Given the description of an element on the screen output the (x, y) to click on. 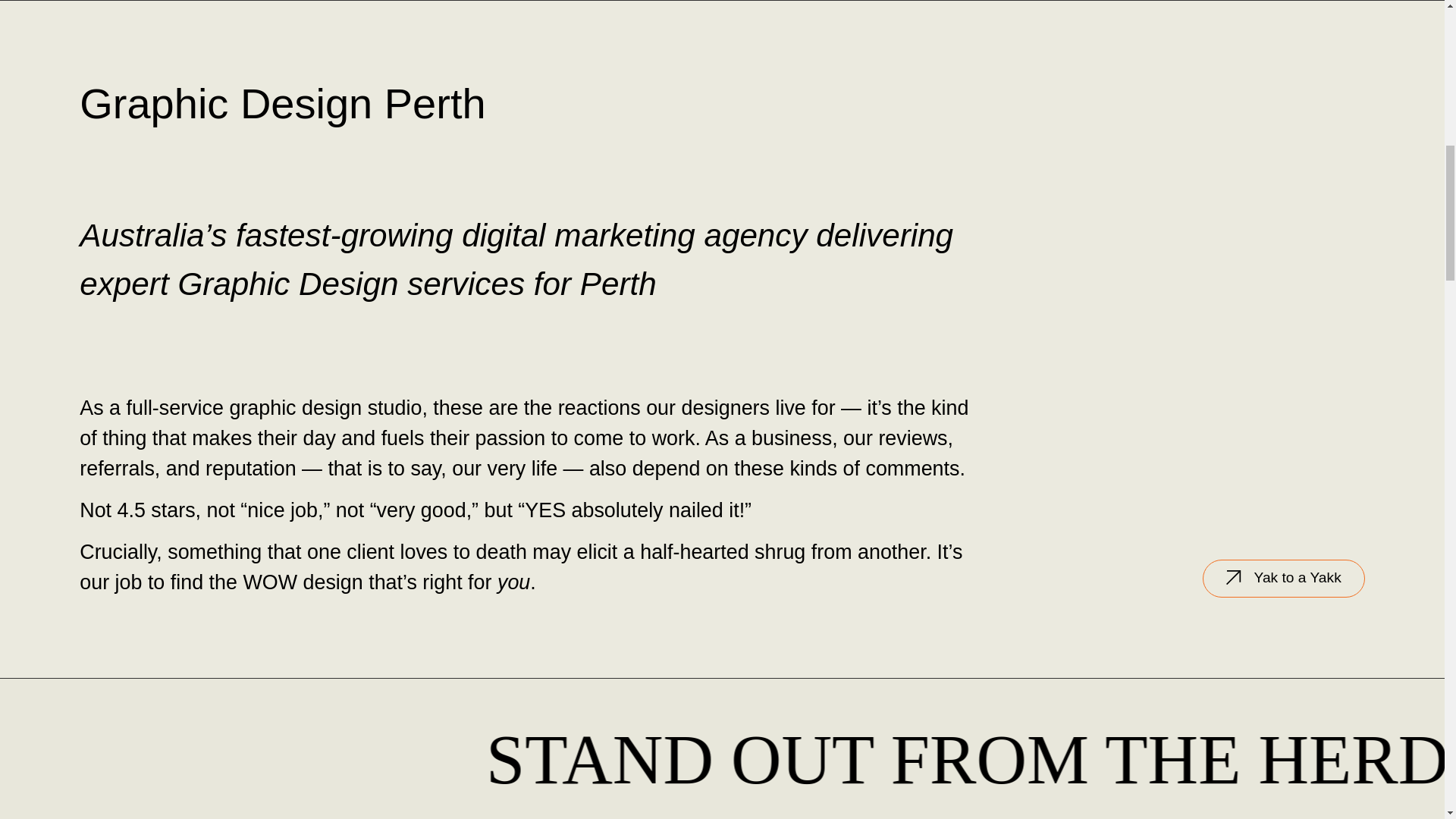
Graphic Design Perth (282, 103)
Graphic Design services for Perth (416, 284)
